Given the description of an element on the screen output the (x, y) to click on. 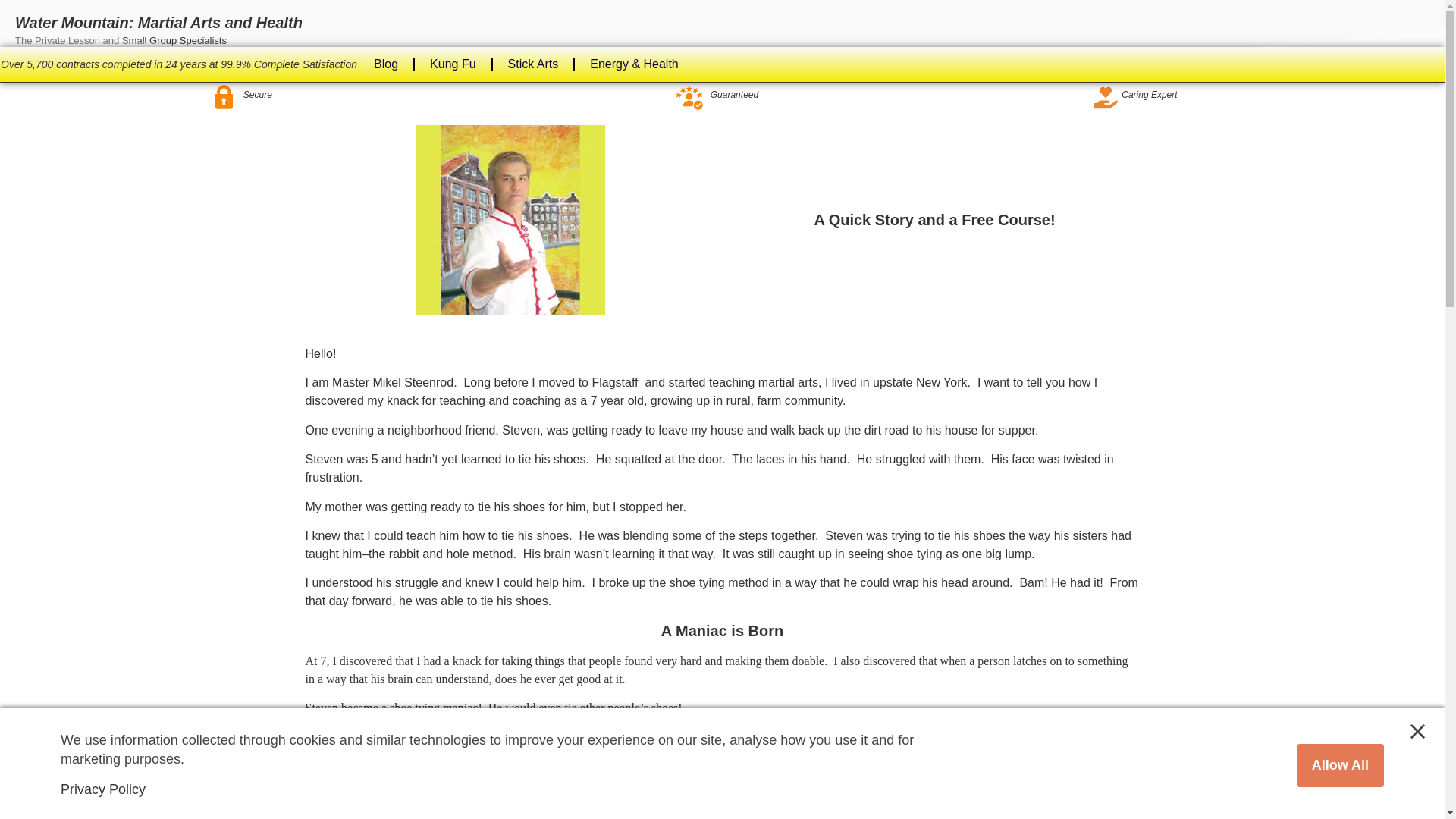
Allow All (1340, 765)
Kung Fu (452, 63)
Martial arts (332, 737)
Privacy Policy (103, 789)
Blog (385, 63)
Stick Arts (533, 63)
Water Mountain (344, 812)
